Given the description of an element on the screen output the (x, y) to click on. 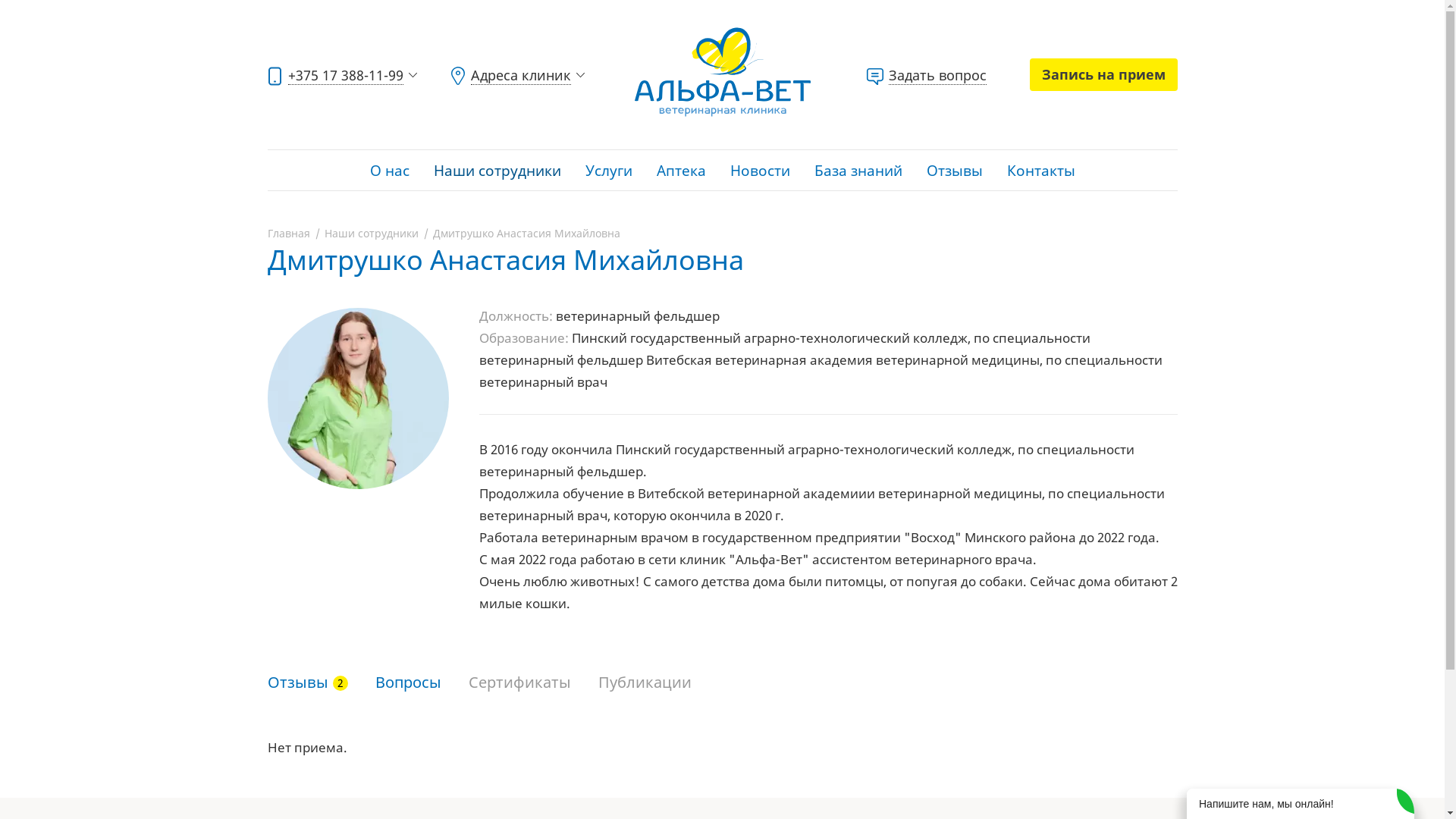
+375 17 388-11-99 Element type: text (343, 74)
